Given the description of an element on the screen output the (x, y) to click on. 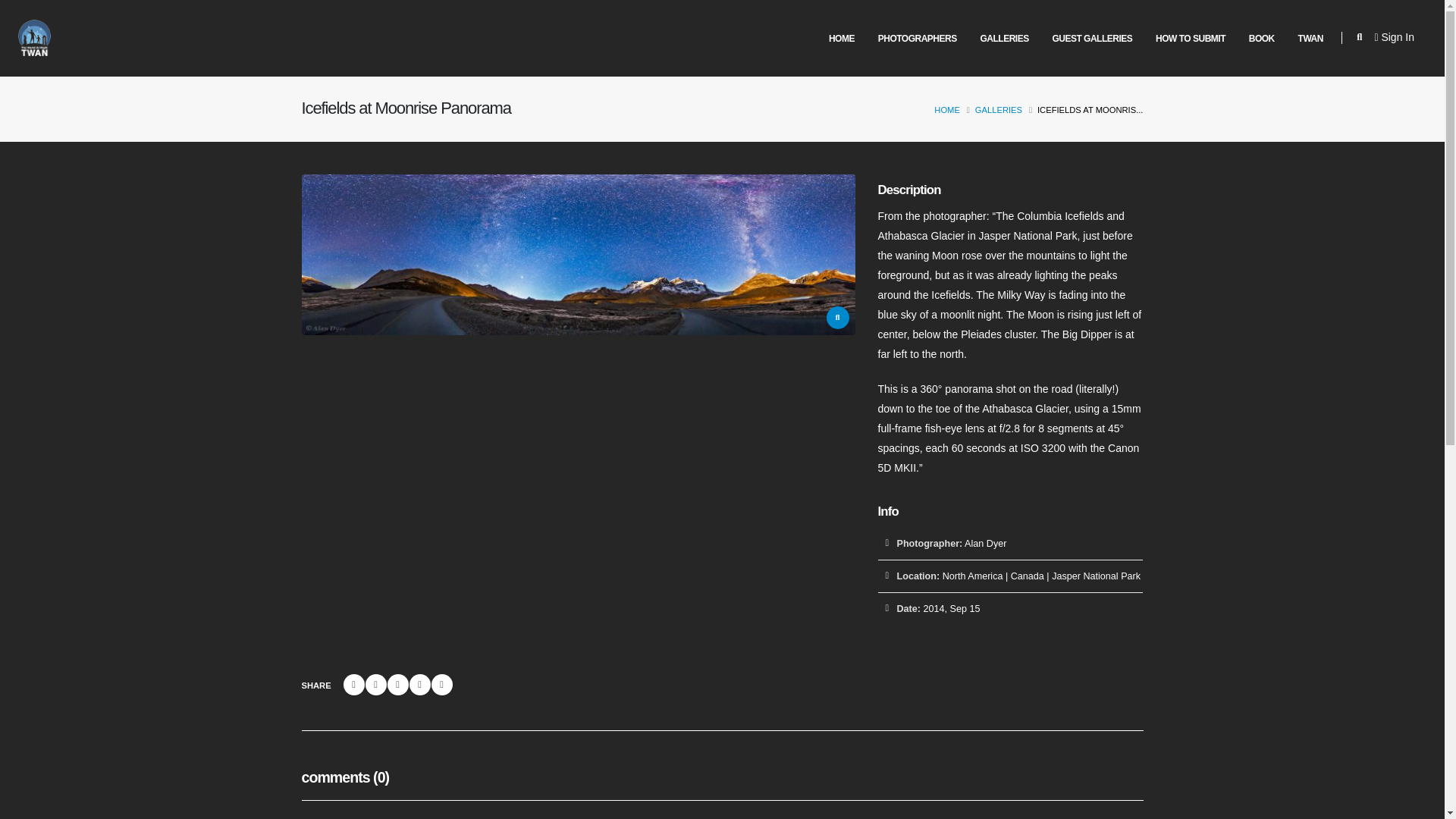
Email (441, 684)
PHOTOGRAPHERS (917, 38)
GALLERIES (1004, 38)
Facebook (352, 684)
Linkedin (397, 684)
Twitter (375, 684)
Pinterest (419, 684)
